Given the description of an element on the screen output the (x, y) to click on. 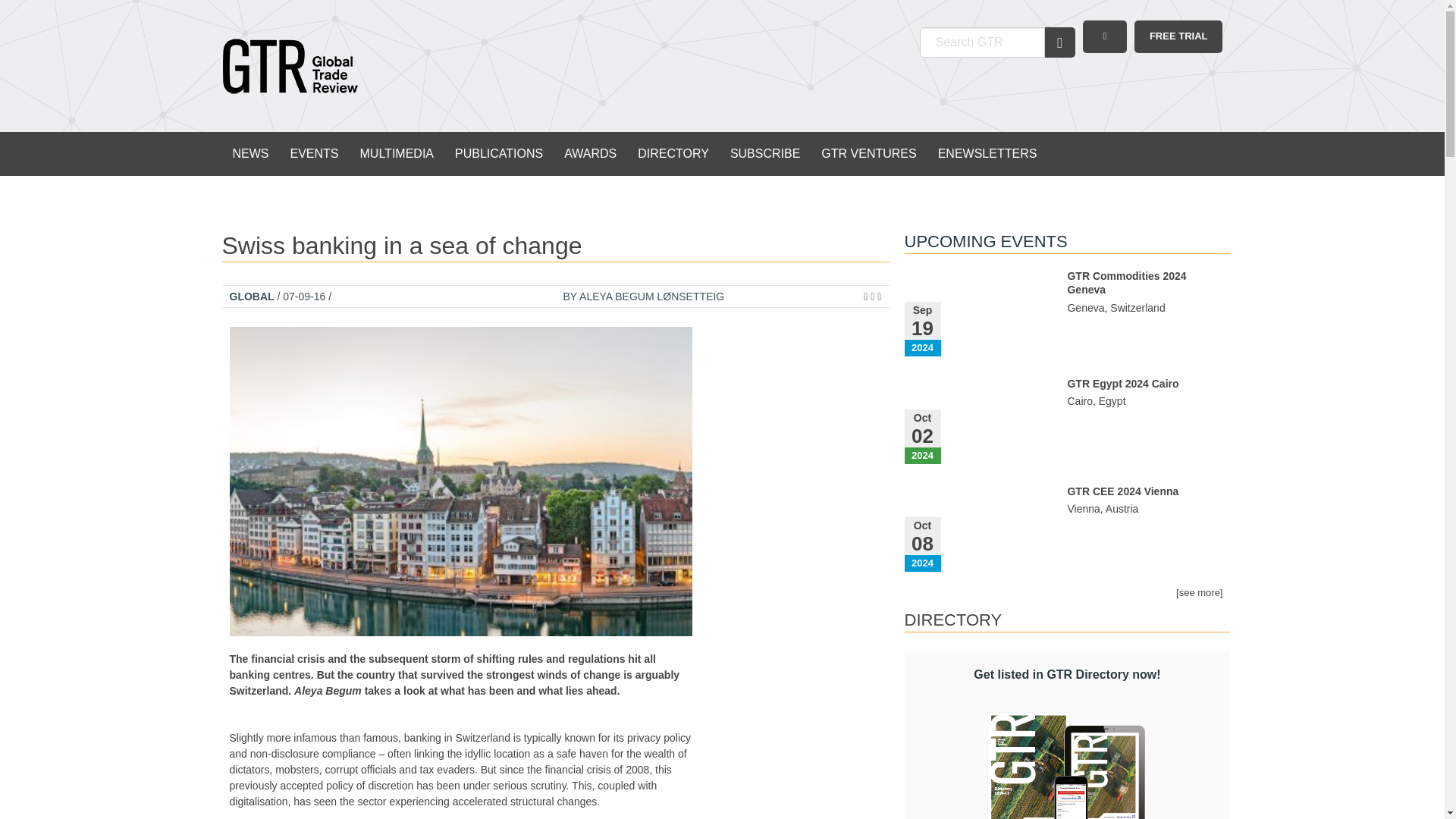
FREE TRIAL (1178, 36)
EVENTS (314, 153)
NEWS (250, 153)
Global (250, 296)
